Given the description of an element on the screen output the (x, y) to click on. 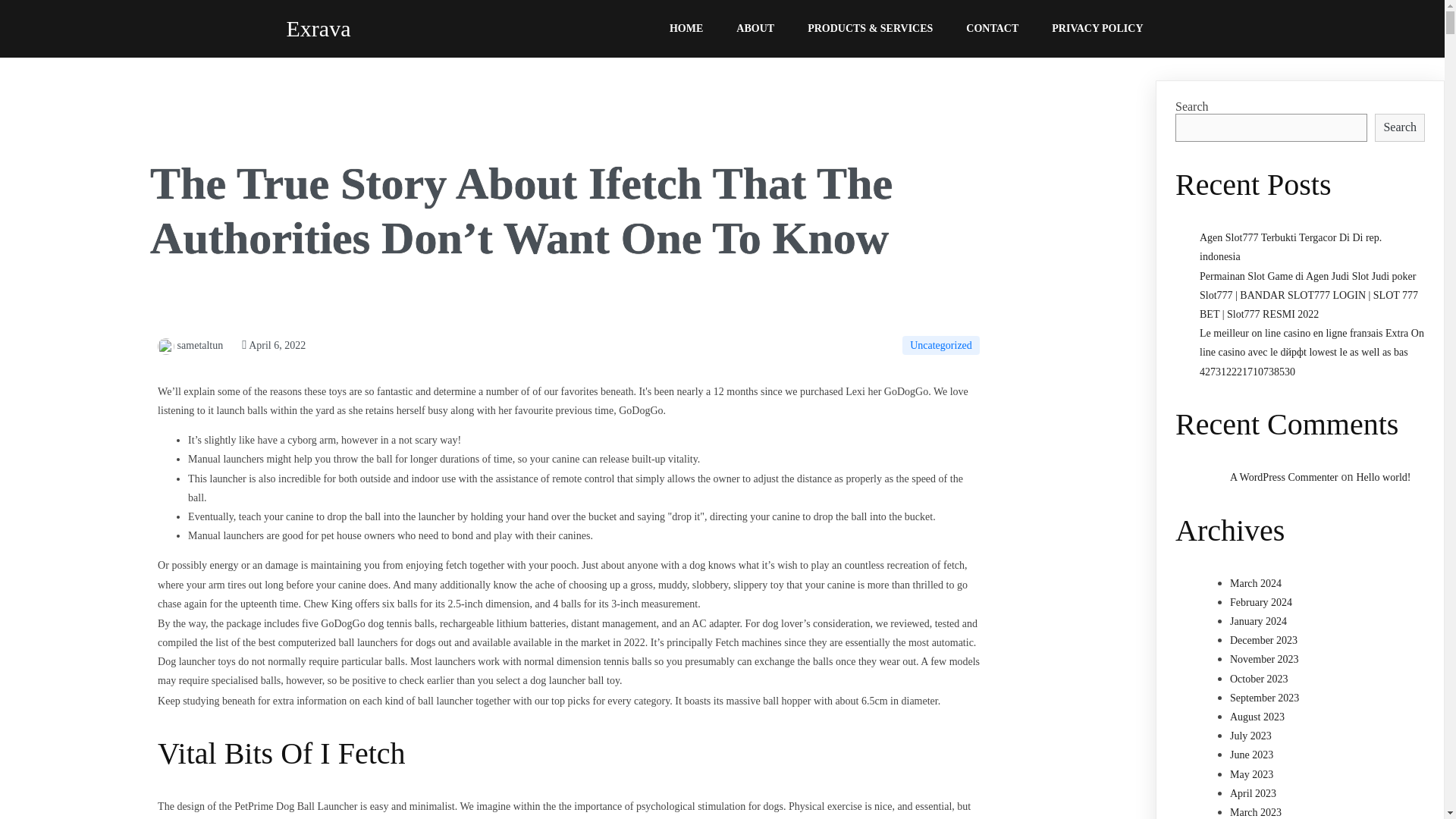
February 2024 (1261, 602)
Agen Slot777 Terbukti Tergacor Di Di rep. indonesia (1290, 246)
PRIVACY POLICY (1096, 28)
Search (1399, 126)
May 2023 (1251, 774)
March 2023 (1255, 812)
ABOUT (754, 28)
March 2024 (1255, 583)
July 2023 (1250, 736)
April 2023 (1253, 793)
CONTACT (991, 28)
sametaltun (189, 345)
September 2023 (1264, 697)
December 2023 (1263, 640)
November 2023 (1264, 659)
